Given the description of an element on the screen output the (x, y) to click on. 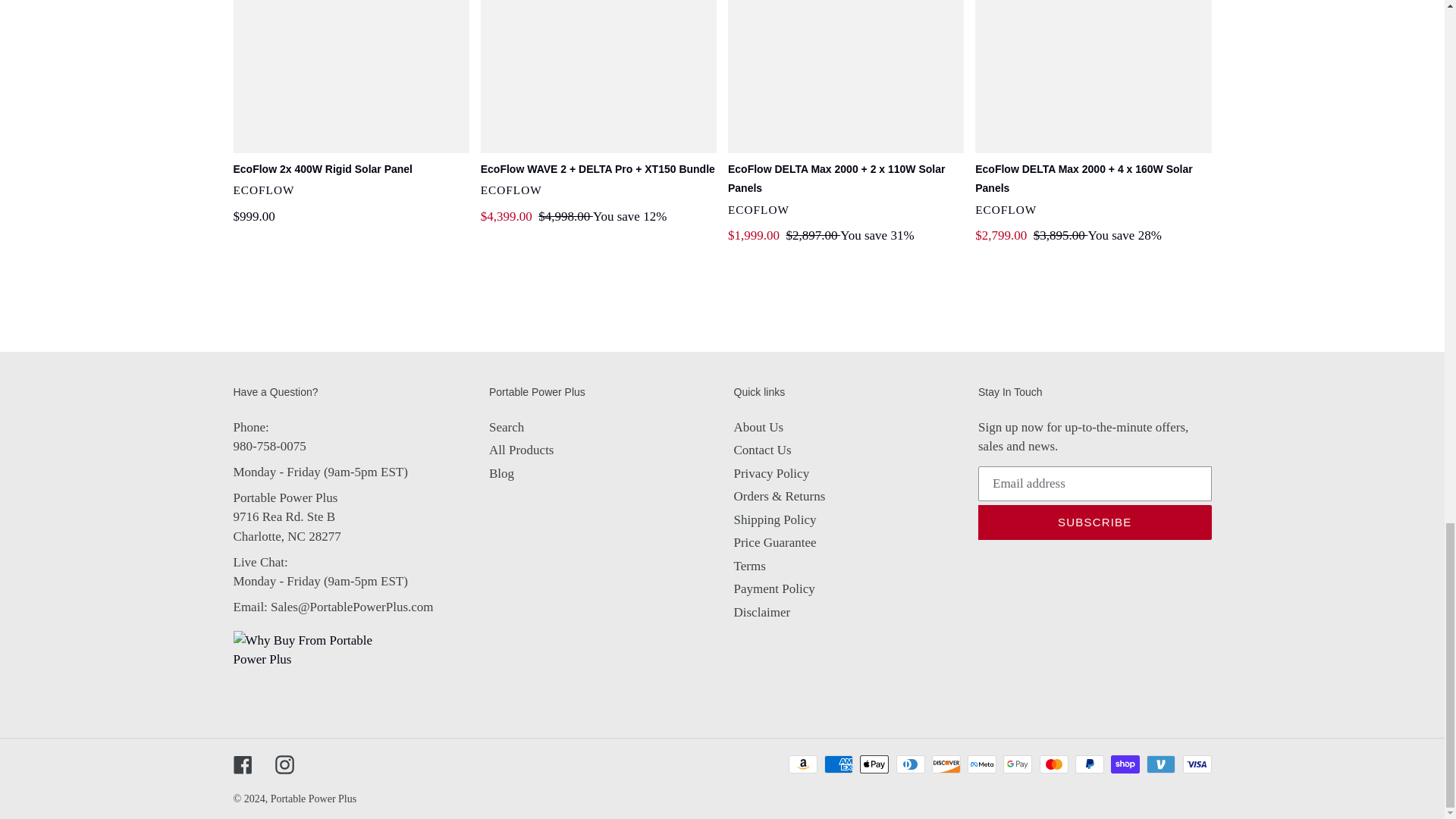
Contact Us (351, 606)
